Given the description of an element on the screen output the (x, y) to click on. 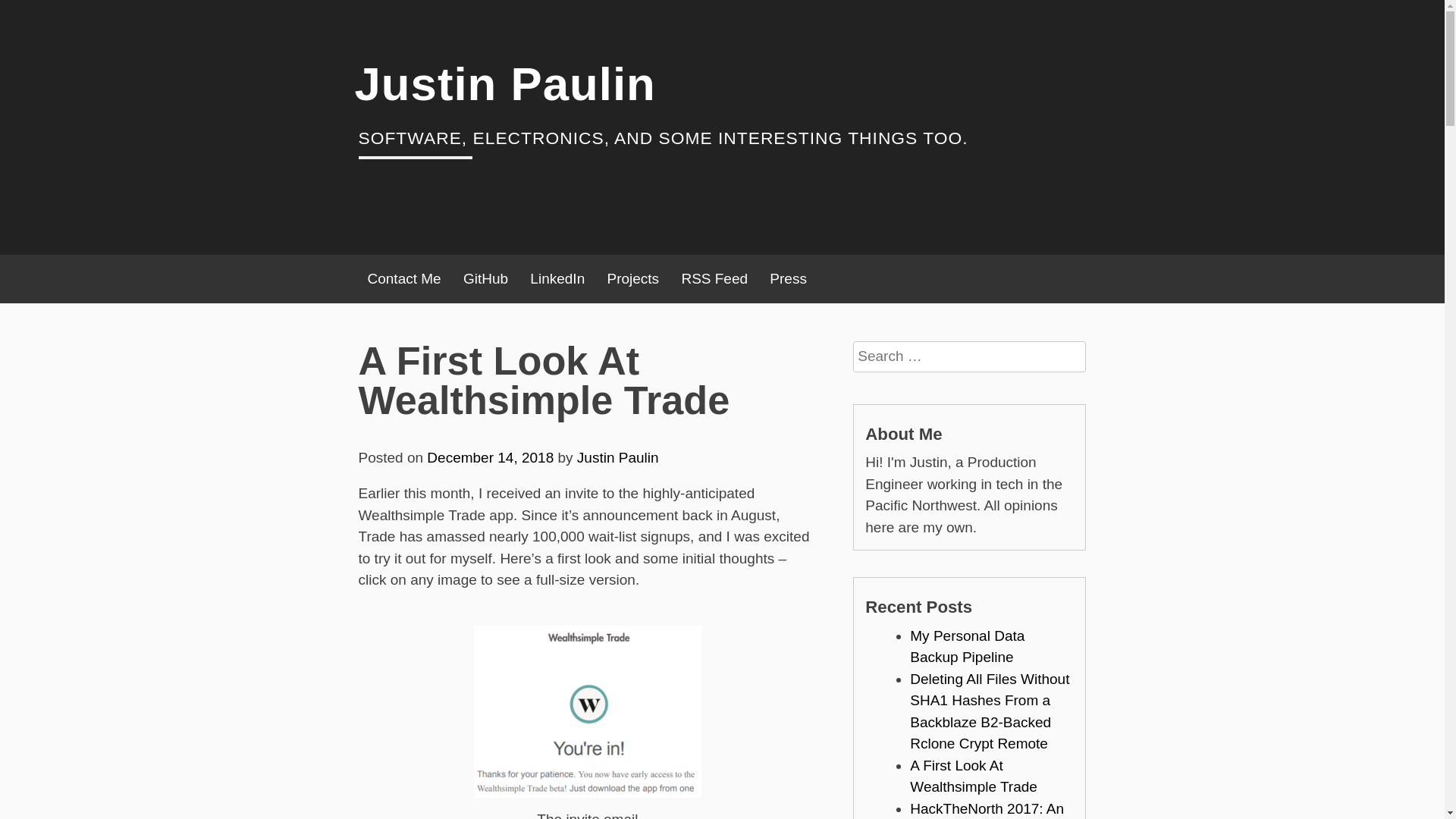
Contact Me (403, 279)
Press (787, 279)
Search (868, 386)
A First Look At Wealthsimple Trade (973, 776)
My Personal Data Backup Pipeline (967, 646)
Justin Paulin (617, 456)
GitHub (485, 279)
LinkedIn (557, 279)
RSS Feed (714, 279)
Search (868, 386)
Justin Paulin (505, 83)
Justin Paulin (505, 83)
December 14, 2018 (489, 456)
